Given the description of an element on the screen output the (x, y) to click on. 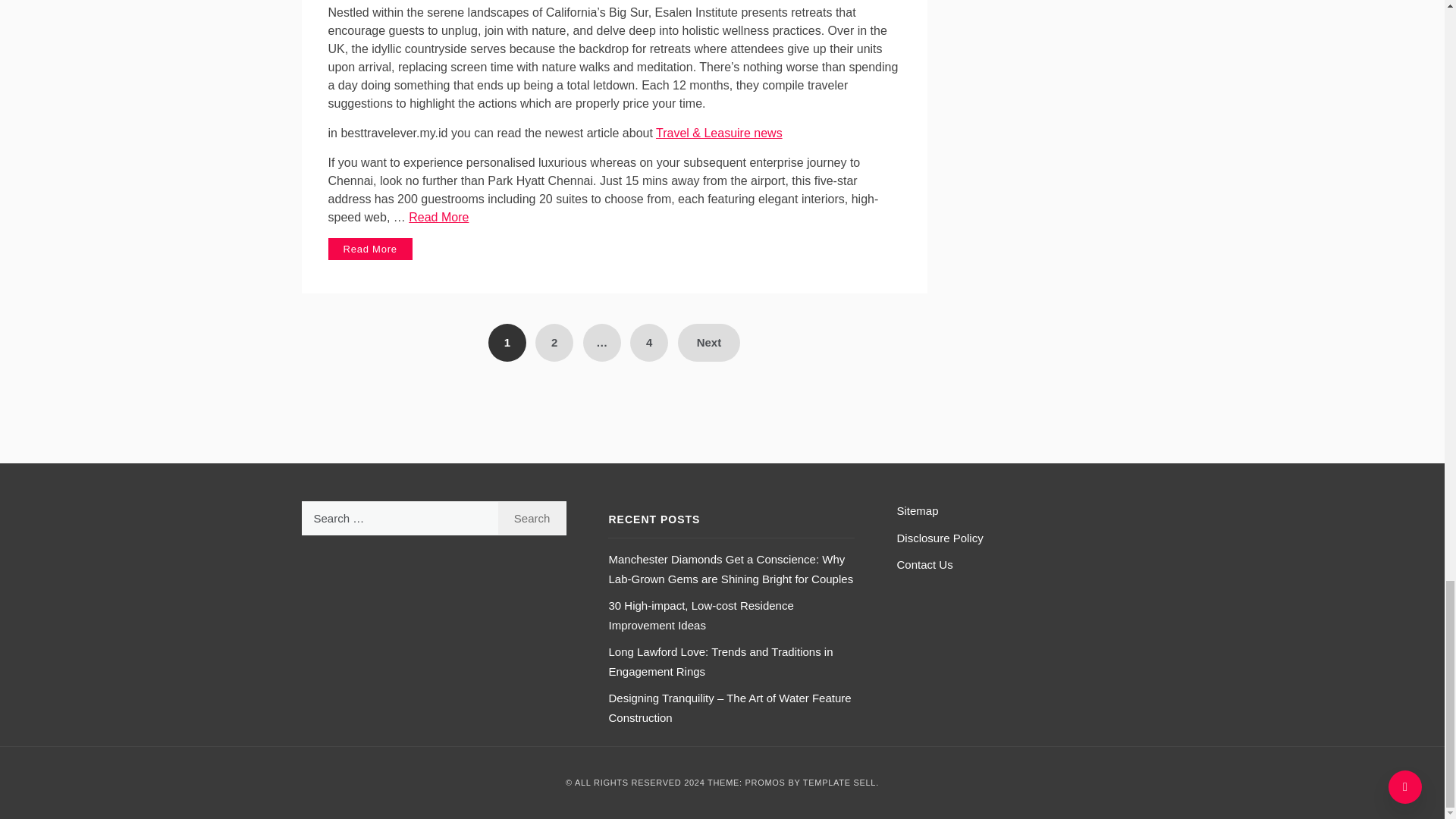
Read More (438, 216)
Search (532, 518)
Search (532, 518)
Read More (369, 249)
2 (554, 342)
Next (709, 342)
4 (649, 342)
